Given the description of an element on the screen output the (x, y) to click on. 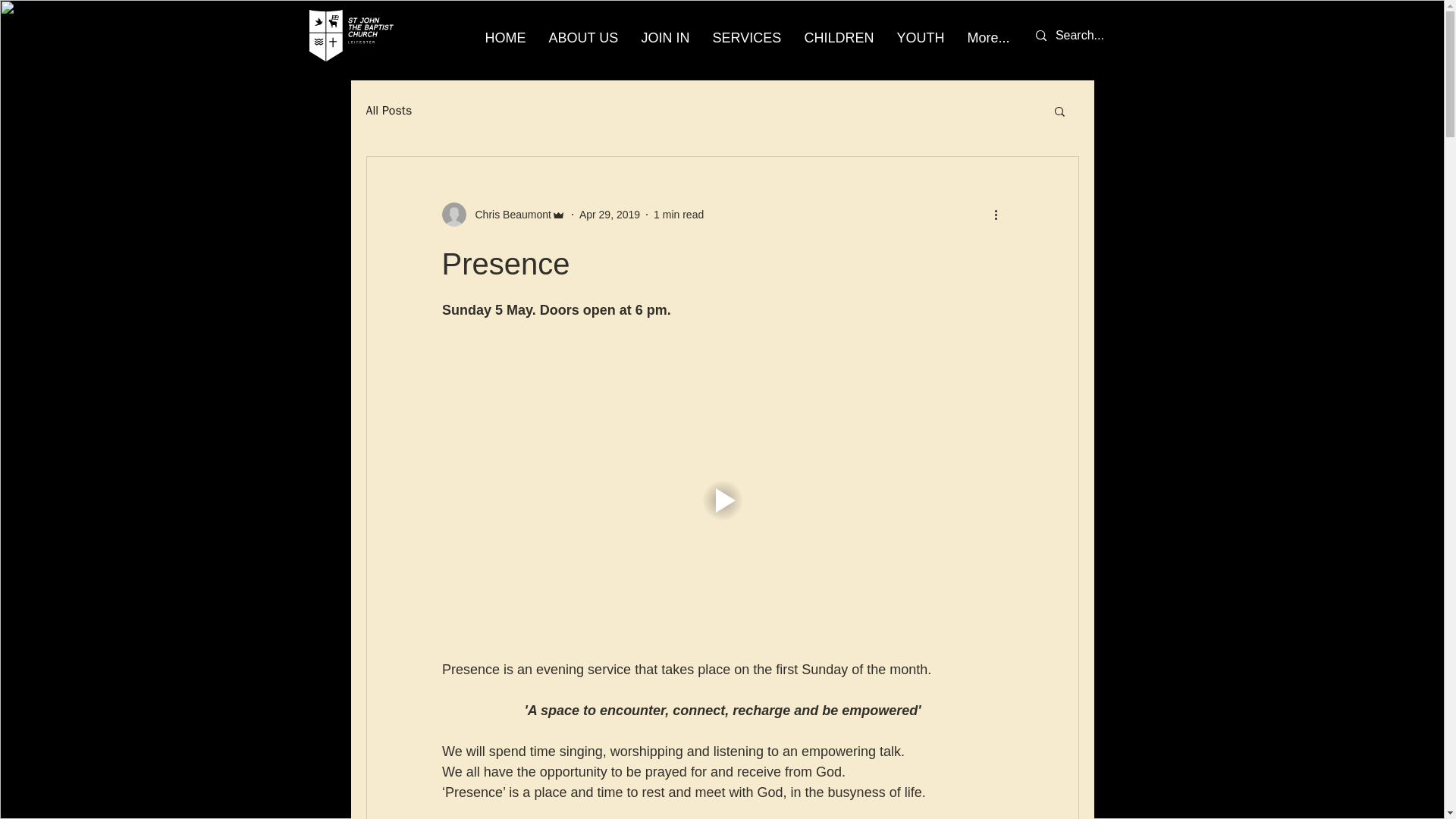
Chris Beaumont (502, 214)
All Posts (388, 110)
Chris Beaumont (507, 213)
HOME (505, 38)
JOIN IN (664, 38)
1 min read (678, 214)
ABOUT US (582, 38)
Apr 29, 2019 (609, 214)
